Given the description of an element on the screen output the (x, y) to click on. 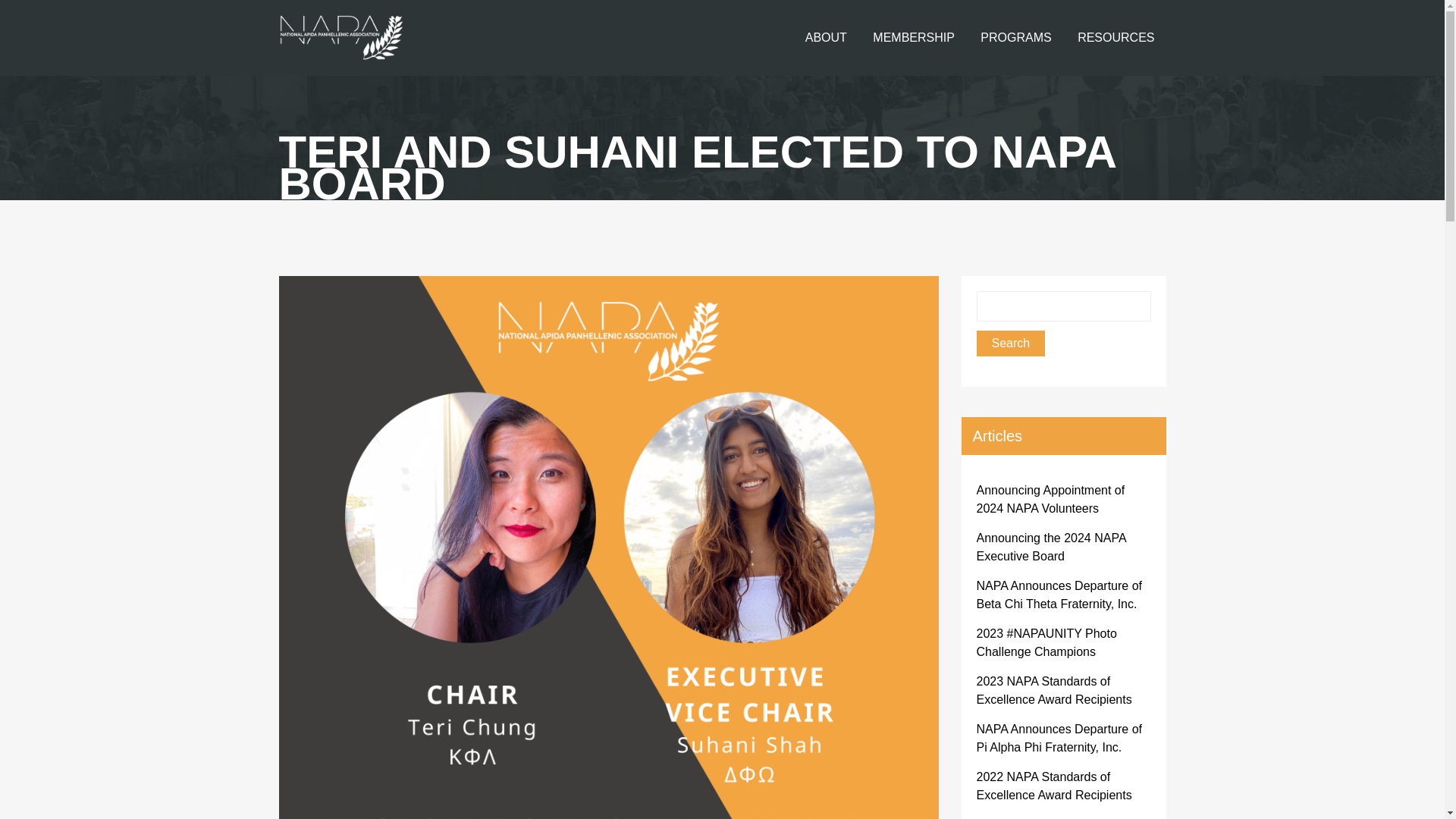
NAPA Announces Departure of Beta Chi Theta Fraternity, Inc. (1059, 594)
Search (1010, 343)
Announcing the 2024 NAPA Executive Board (1050, 546)
Announcing Appointment of 2024 NAPA Volunteers (1050, 499)
NAPA Announces Departure of Pi Alpha Phi Fraternity, Inc. (1059, 737)
PROGRAMS (1015, 38)
RESOURCES (1115, 38)
MEMBERSHIP (913, 38)
2023 NAPA Standards of Excellence Award Recipients (1054, 689)
Search (1010, 343)
2022 NAPA Standards of Excellence Award Recipients (1054, 785)
